Given the description of an element on the screen output the (x, y) to click on. 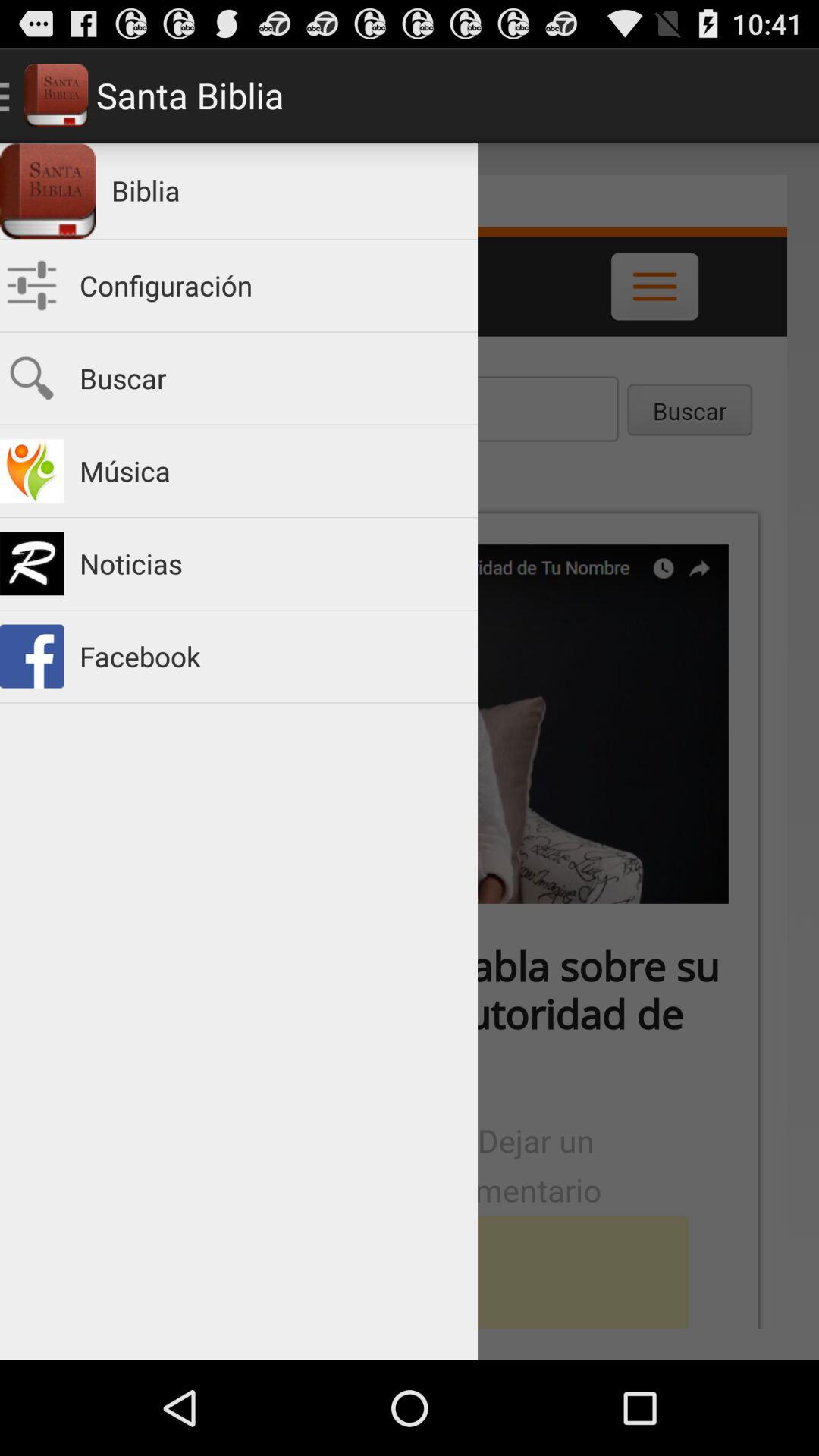
turn off icon at the center (409, 751)
